Given the description of an element on the screen output the (x, y) to click on. 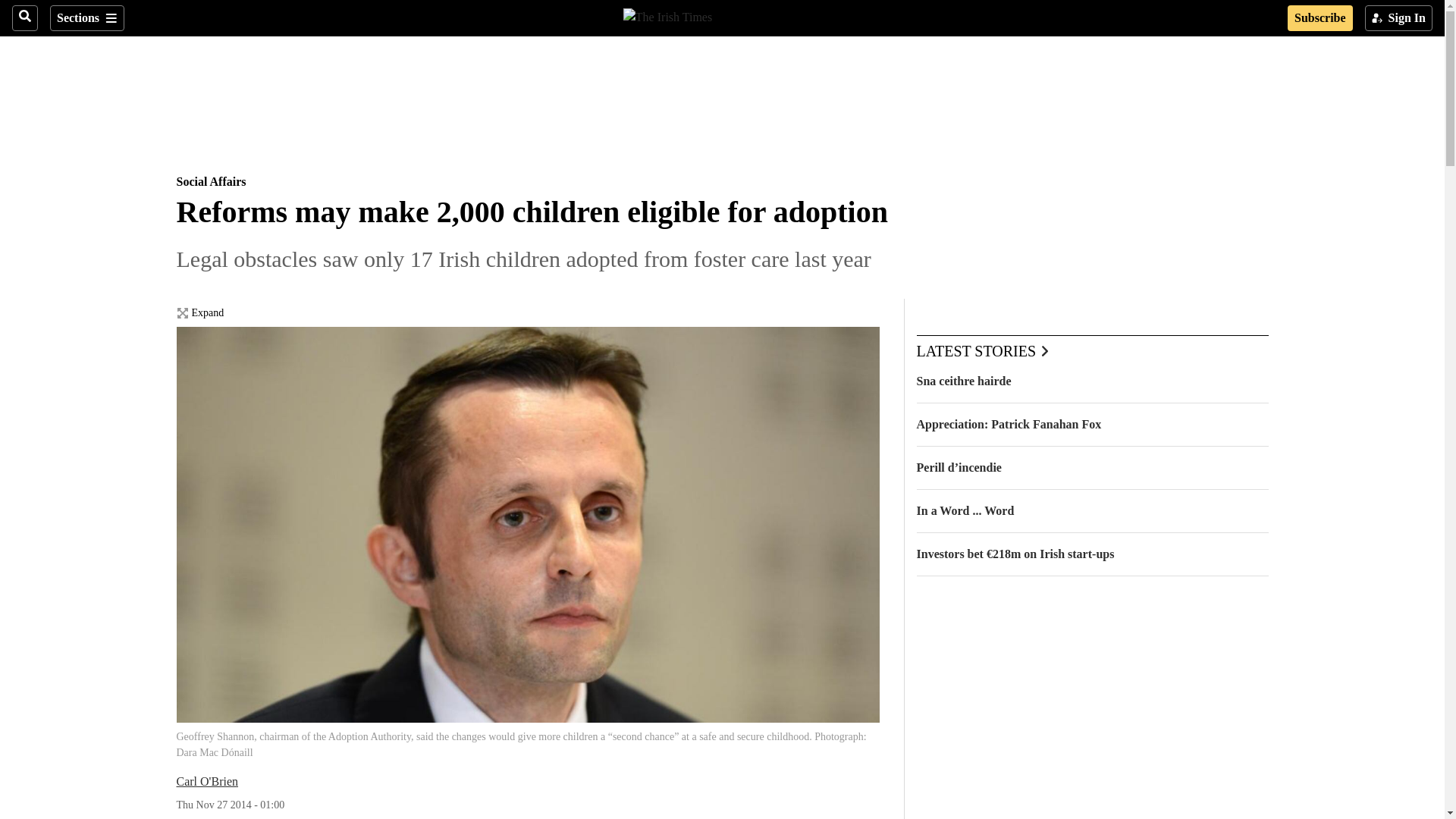
Sections (86, 17)
Sign In (1398, 17)
Subscribe (1319, 17)
The Irish Times (667, 15)
